Given the description of an element on the screen output the (x, y) to click on. 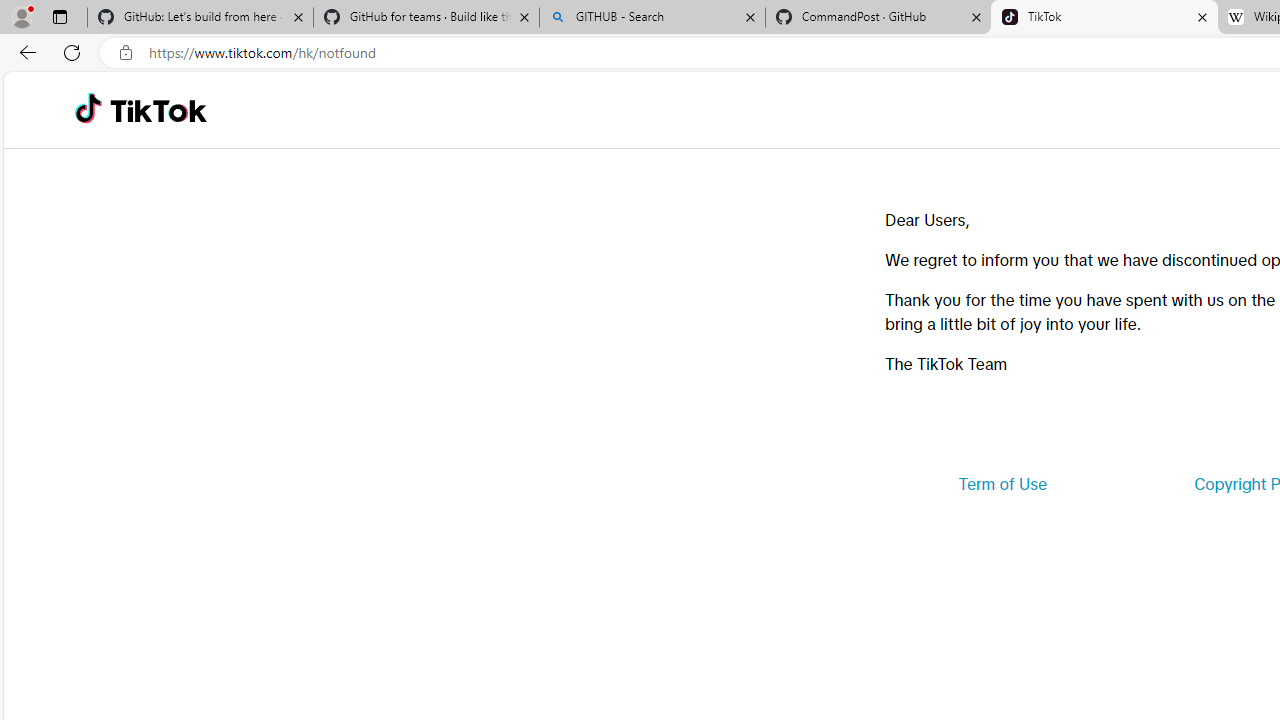
TikTok (158, 110)
TikTok (1104, 17)
GITHUB - Search (652, 17)
Term of Use (1002, 484)
View site information (125, 53)
